Given the description of an element on the screen output the (x, y) to click on. 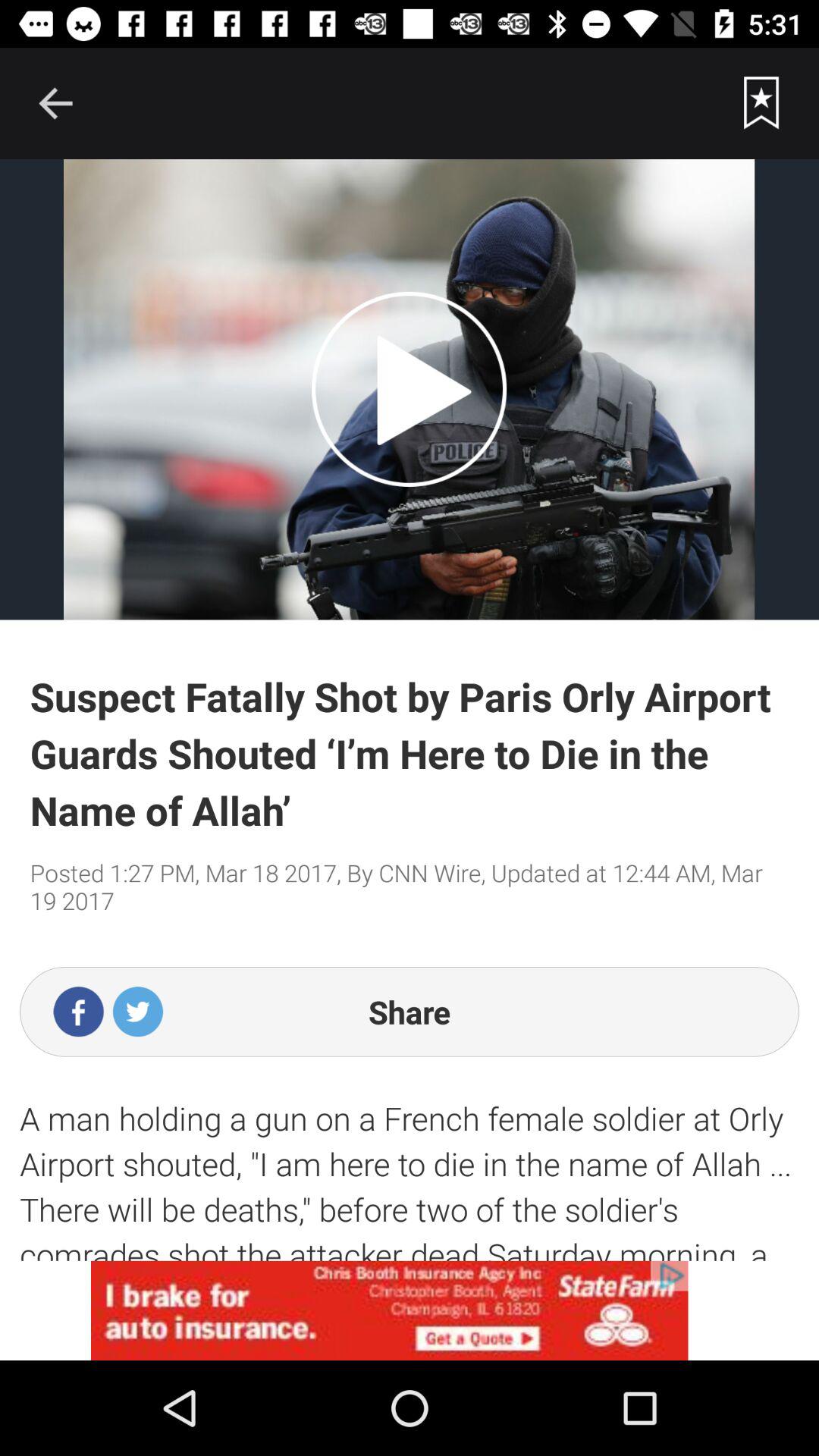
favourites (761, 102)
